Given the description of an element on the screen output the (x, y) to click on. 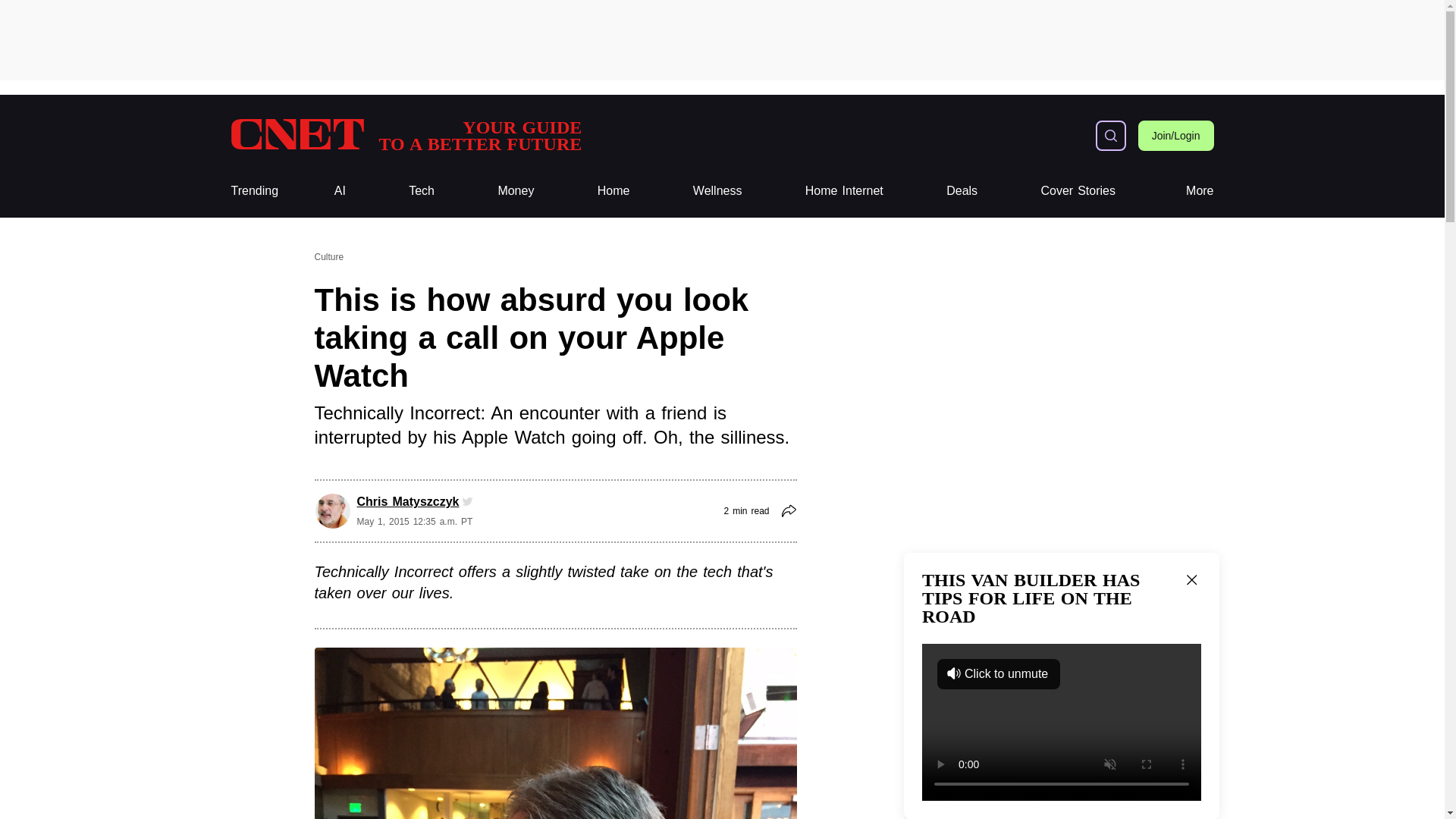
Money (515, 190)
Tech (421, 190)
Money (515, 190)
CNET (405, 135)
Deals (961, 190)
Home (405, 135)
Cover Stories (613, 190)
Trending (1078, 190)
Home Internet (254, 190)
Trending (844, 190)
Home Internet (254, 190)
Tech (844, 190)
Home (421, 190)
More (613, 190)
